Given the description of an element on the screen output the (x, y) to click on. 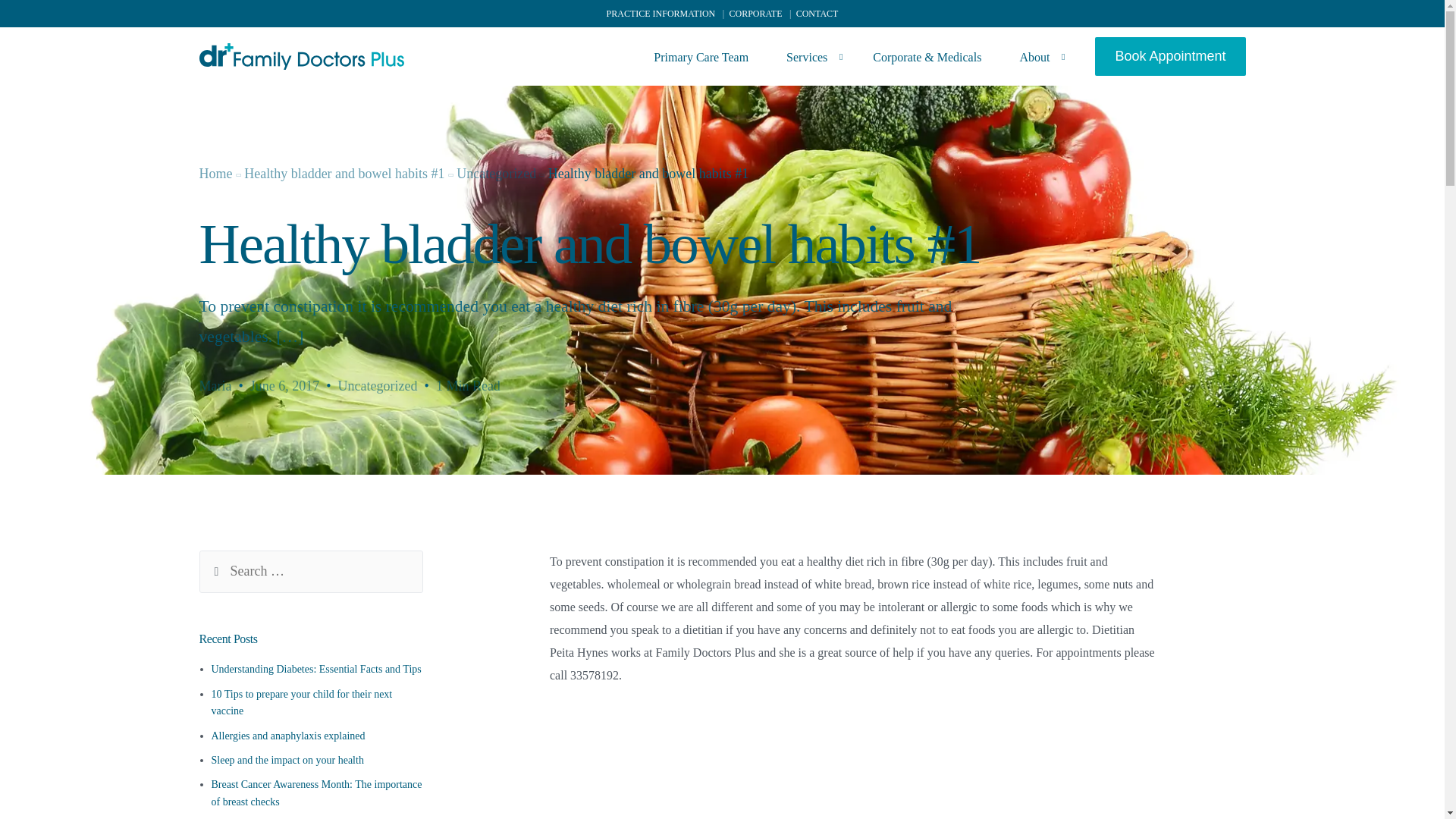
CONTACT (816, 13)
Maria (214, 385)
Book Appointment (1169, 75)
Home (214, 173)
Allergies and anaphylaxis explained (288, 736)
Sleep and the impact on your health (286, 759)
10 Tips to prepare your child for their next vaccine (301, 702)
Uncategorized (377, 385)
PRACTICE INFORMATION (660, 13)
